Given the description of an element on the screen output the (x, y) to click on. 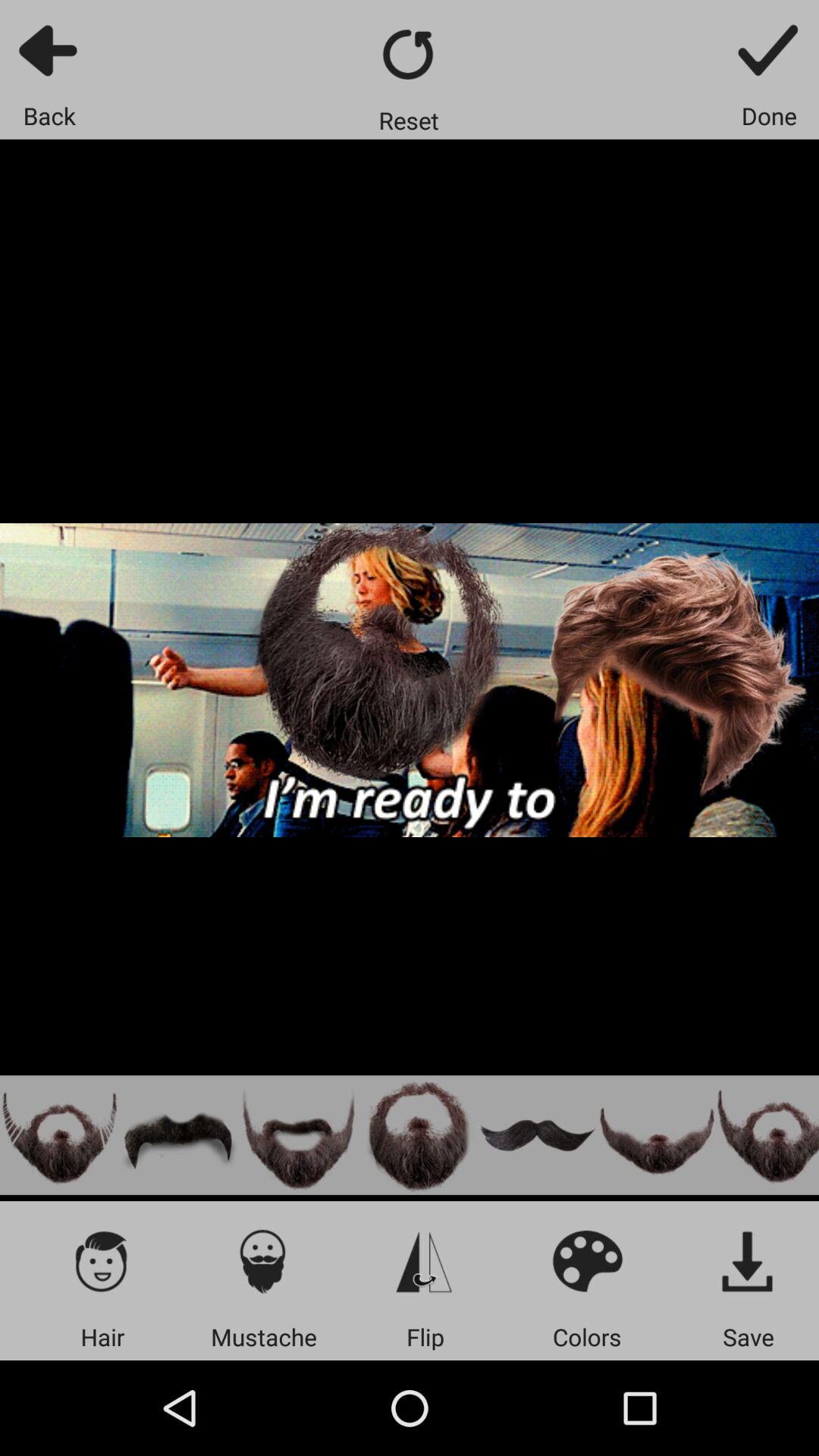
select handlebar and goatee beard option (298, 1134)
